Given the description of an element on the screen output the (x, y) to click on. 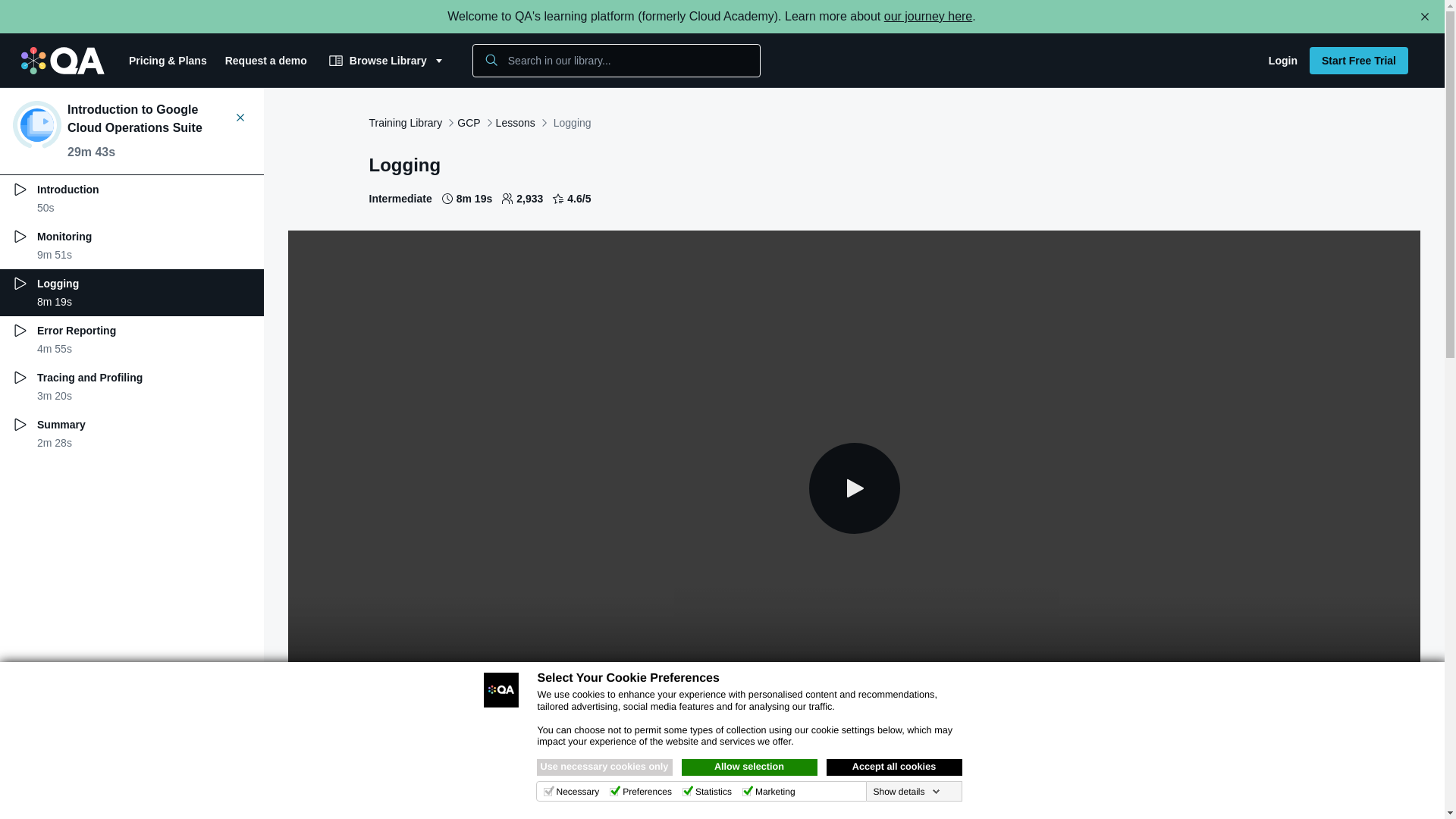
Use necessary cookies only (604, 767)
Allow selection (748, 767)
Accept all cookies (894, 767)
Show details (905, 791)
